Given the description of an element on the screen output the (x, y) to click on. 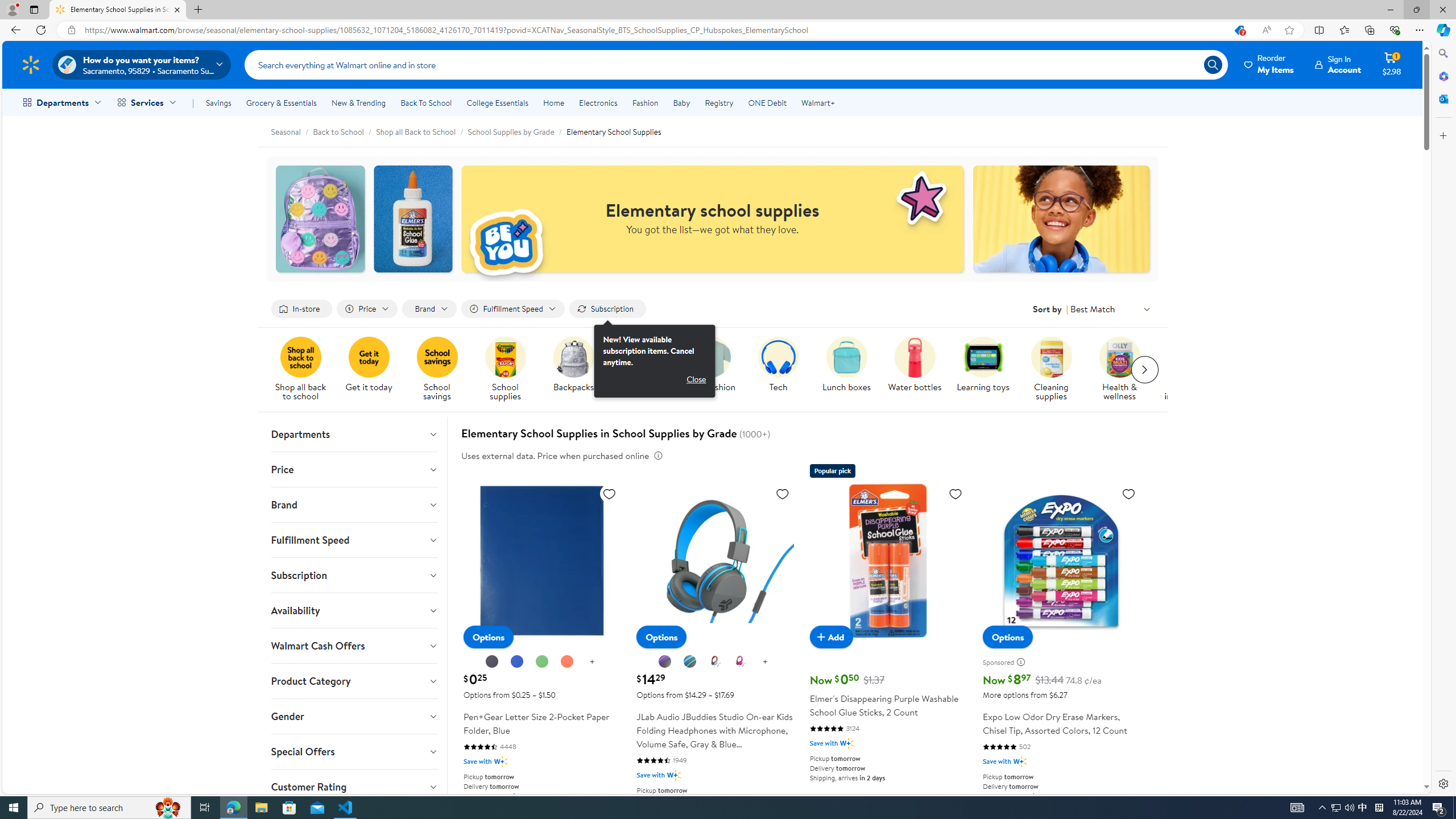
Graphite Purple (665, 661)
School Supplies by Grade (510, 131)
Back To School (425, 102)
A gray metallic backpack is on display. (573, 357)
Back to School (338, 131)
Boys' fashion (713, 369)
School supplies (504, 357)
A blue headset is on display. (778, 357)
